Given the description of an element on the screen output the (x, y) to click on. 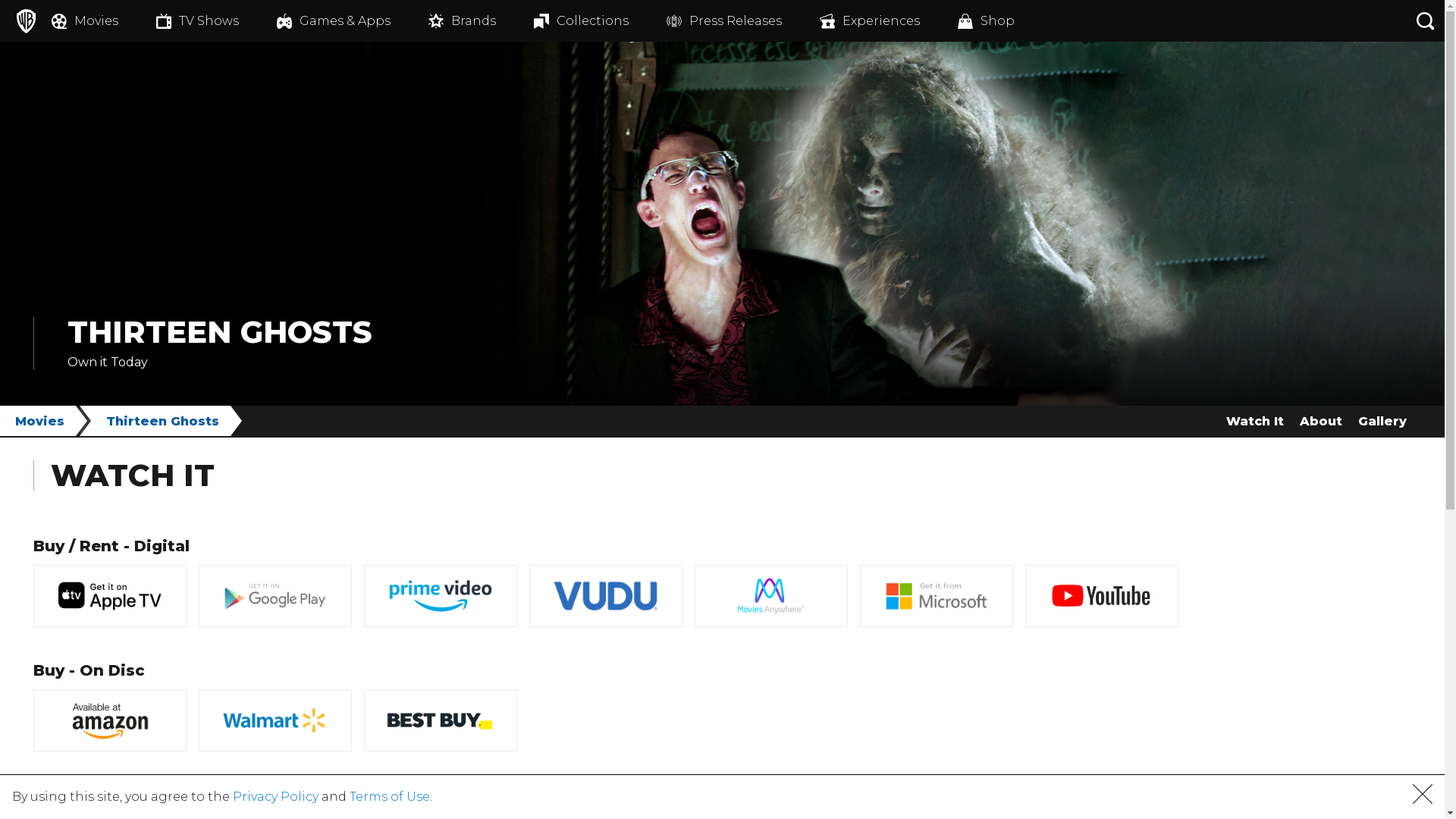
Brands Element type: text (480, 20)
Collections Element type: text (599, 20)
About Element type: text (1320, 420)
Privacy Policy Element type: text (275, 796)
Movies Element type: text (103, 20)
Experiences Element type: text (888, 20)
Gallery Element type: text (1381, 420)
Movies Element type: text (45, 420)
Press Releases Element type: text (742, 20)
Games & Apps Element type: text (352, 20)
TV Shows Element type: text (216, 20)
Shop Element type: text (1004, 20)
Watch It Element type: text (1254, 420)
Terms of Use Element type: text (389, 796)
Thirteen Ghosts Element type: text (168, 420)
